Given the description of an element on the screen output the (x, y) to click on. 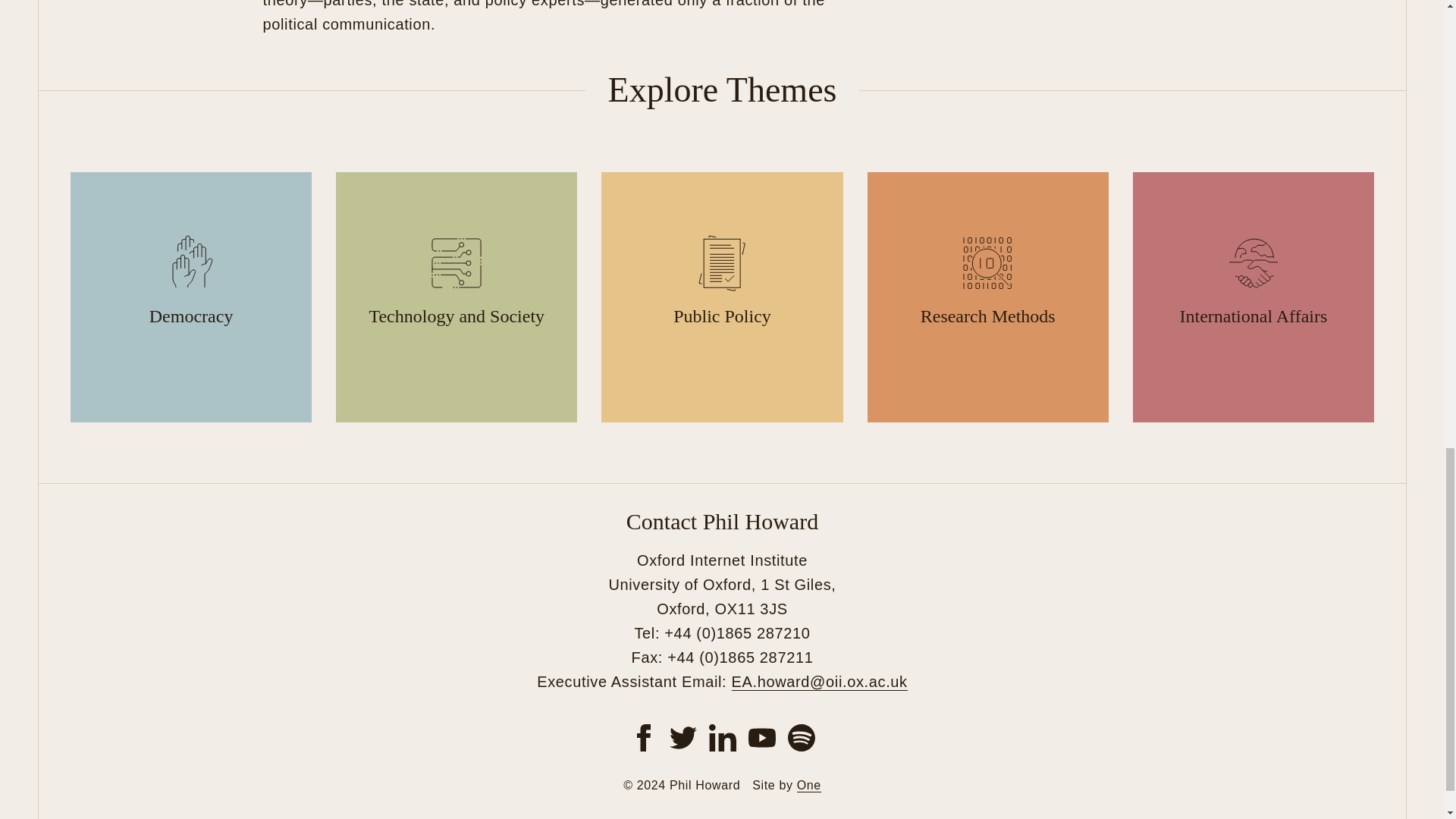
YouTube (761, 737)
Twitter (681, 737)
Research Methods (987, 296)
Spotify (800, 737)
Spotify (800, 737)
YouTube (761, 737)
Public Policy (722, 296)
Democracy (190, 296)
Technology and Society (456, 296)
One (808, 785)
Twitter (681, 737)
